Given the description of an element on the screen output the (x, y) to click on. 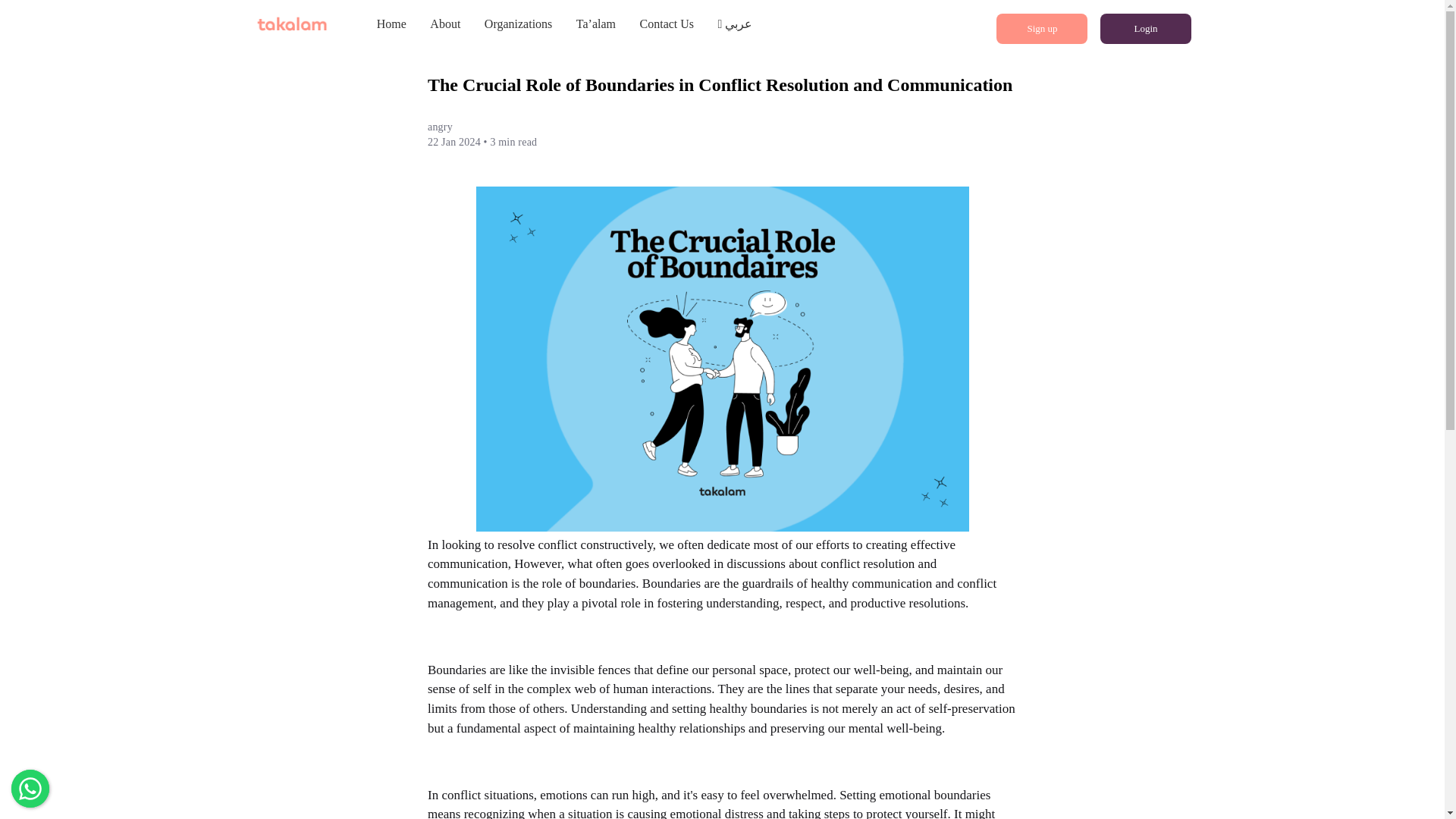
Contact Us (666, 23)
About (444, 23)
Home (391, 23)
Organizations (518, 23)
